Given the description of an element on the screen output the (x, y) to click on. 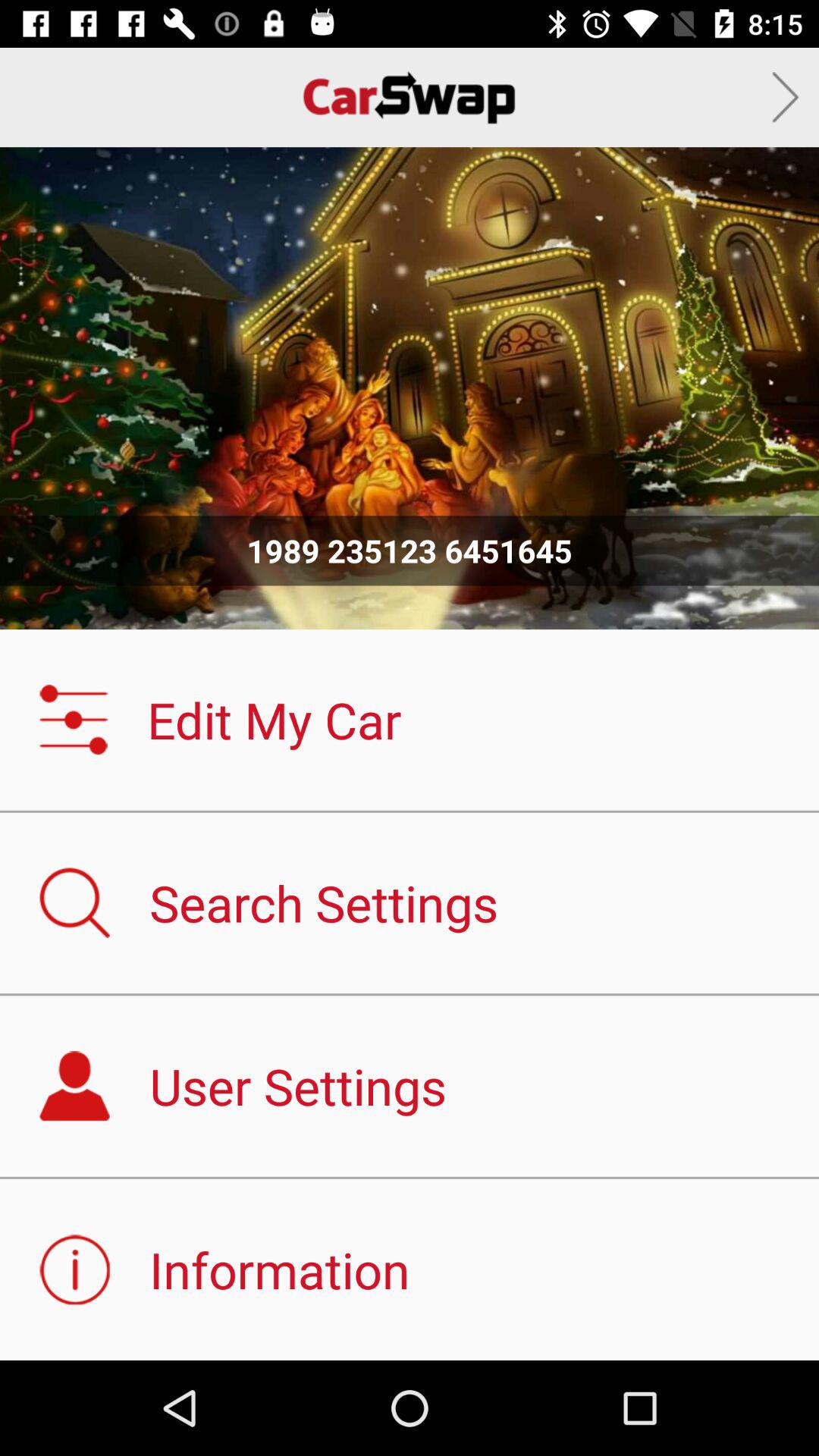
choose icon at the top right corner (785, 97)
